Given the description of an element on the screen output the (x, y) to click on. 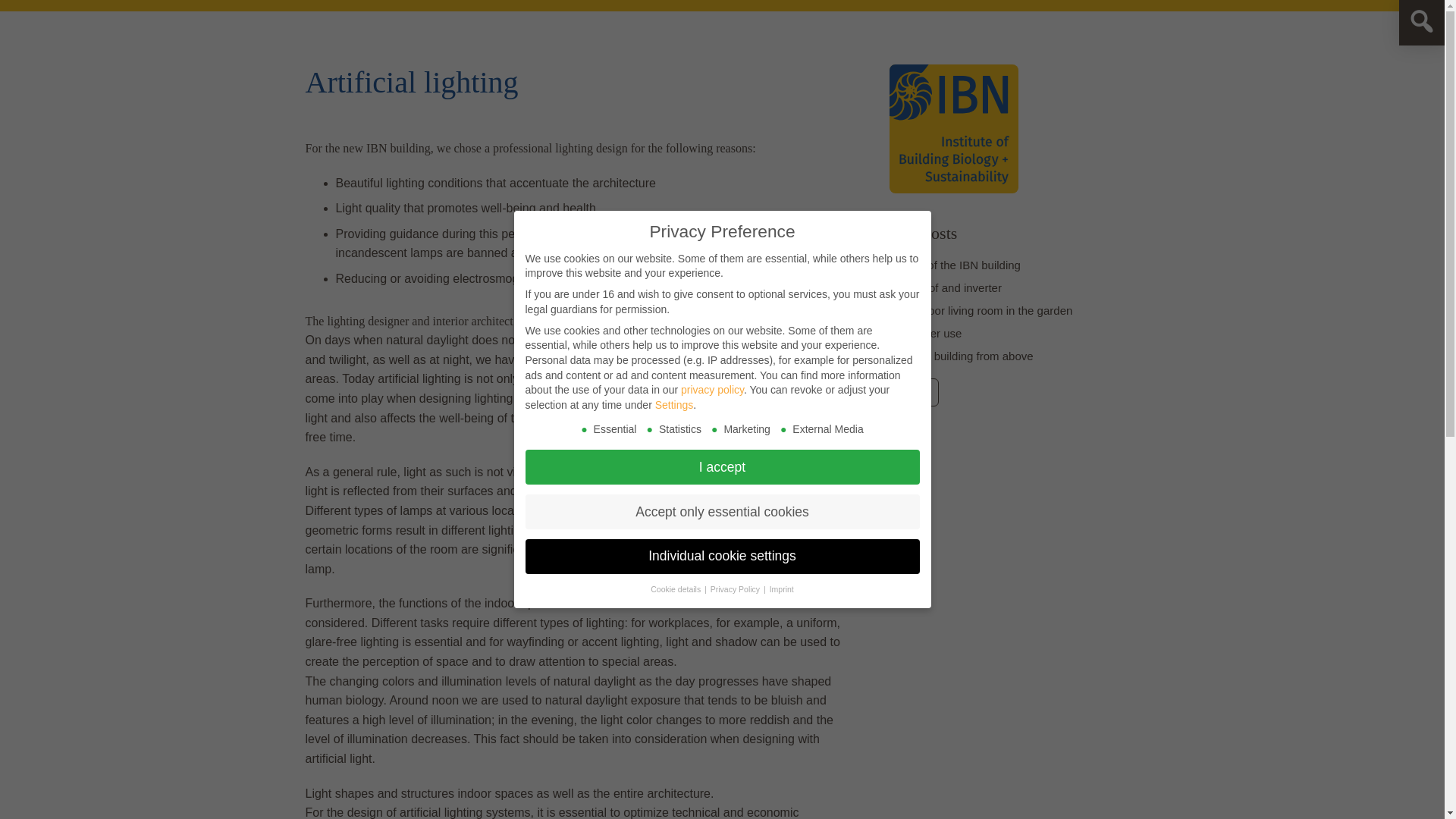
Solar roof and inverter (944, 287)
The IBN building from above (960, 355)
An outdoor living room in the garden (979, 309)
More (913, 392)
Rainwater use (924, 332)
Photos of the IBN building (954, 264)
IBN Building (913, 392)
